Given the description of an element on the screen output the (x, y) to click on. 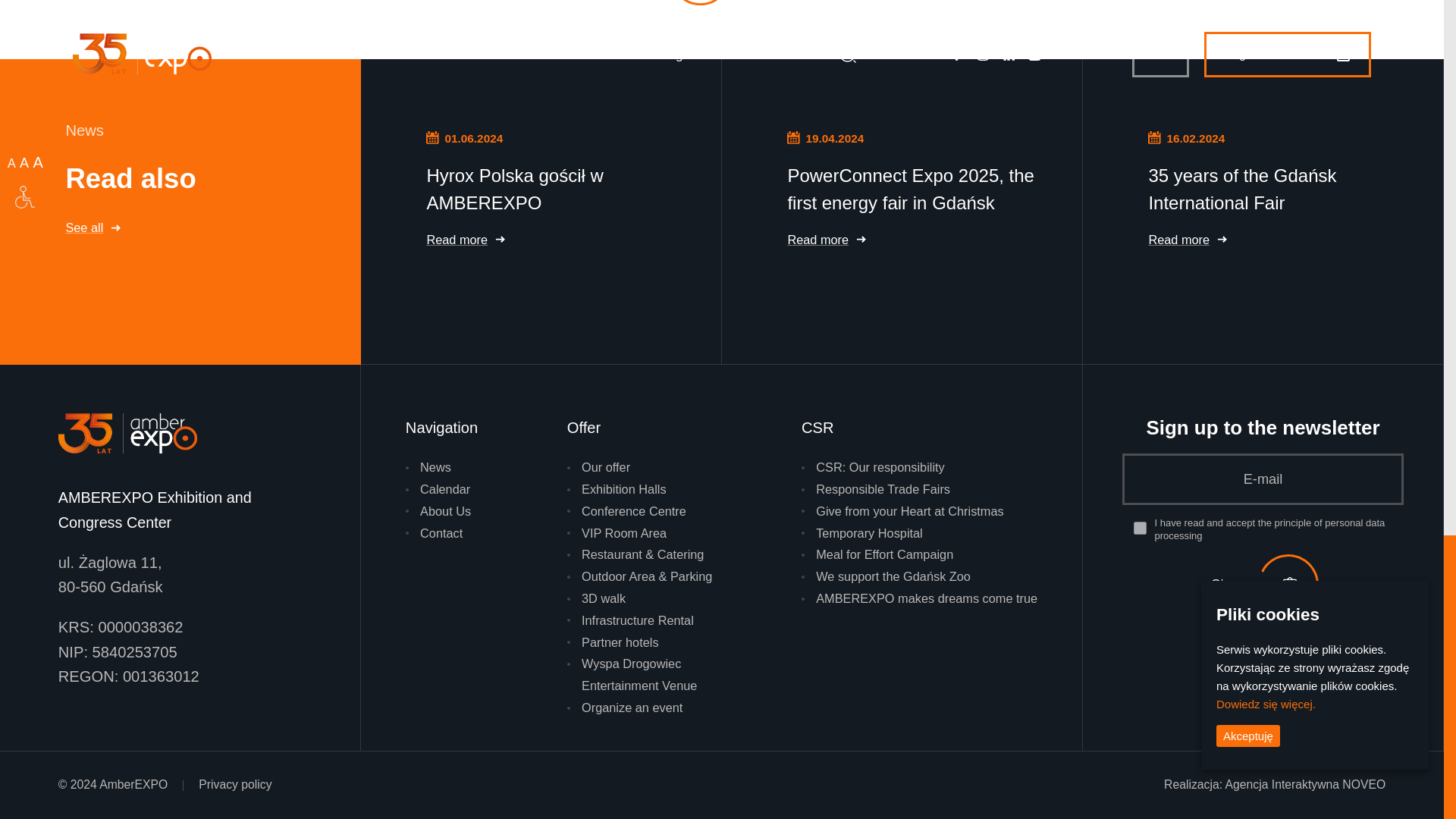
Sign up (1261, 584)
Read more (916, 239)
See all (721, 2)
Read more (1277, 239)
Read more (555, 239)
See all (194, 226)
1 (1140, 527)
